Given the description of an element on the screen output the (x, y) to click on. 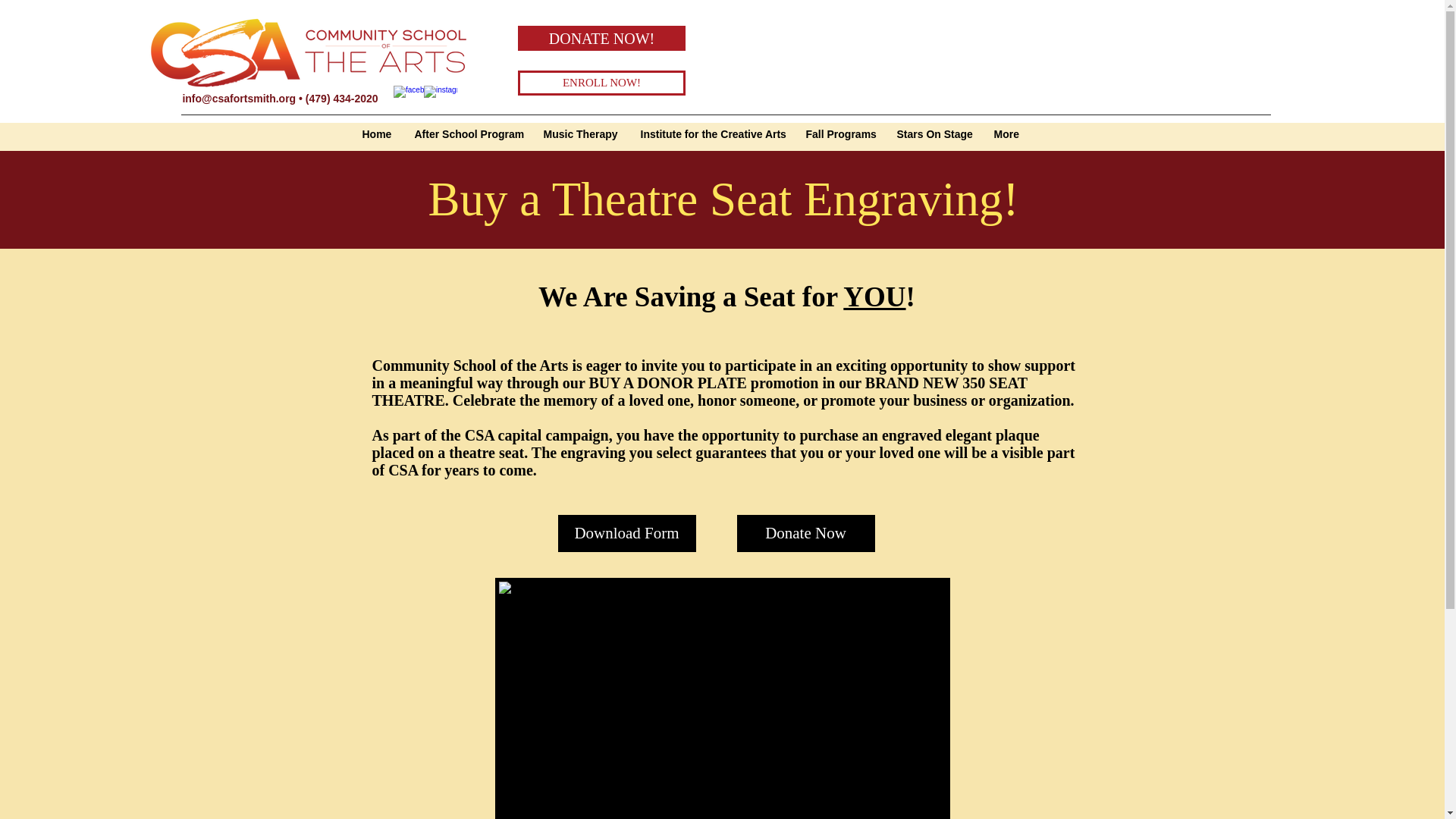
After School Program (467, 133)
Institute for the Creative Arts (711, 133)
DONATE NOW! (601, 37)
ENROLL NOW! (601, 82)
Music Therapy (580, 133)
Stars On Stage (933, 133)
Home (376, 133)
Download Form (626, 533)
Fall Programs (839, 133)
Donate Now (805, 533)
